Given the description of an element on the screen output the (x, y) to click on. 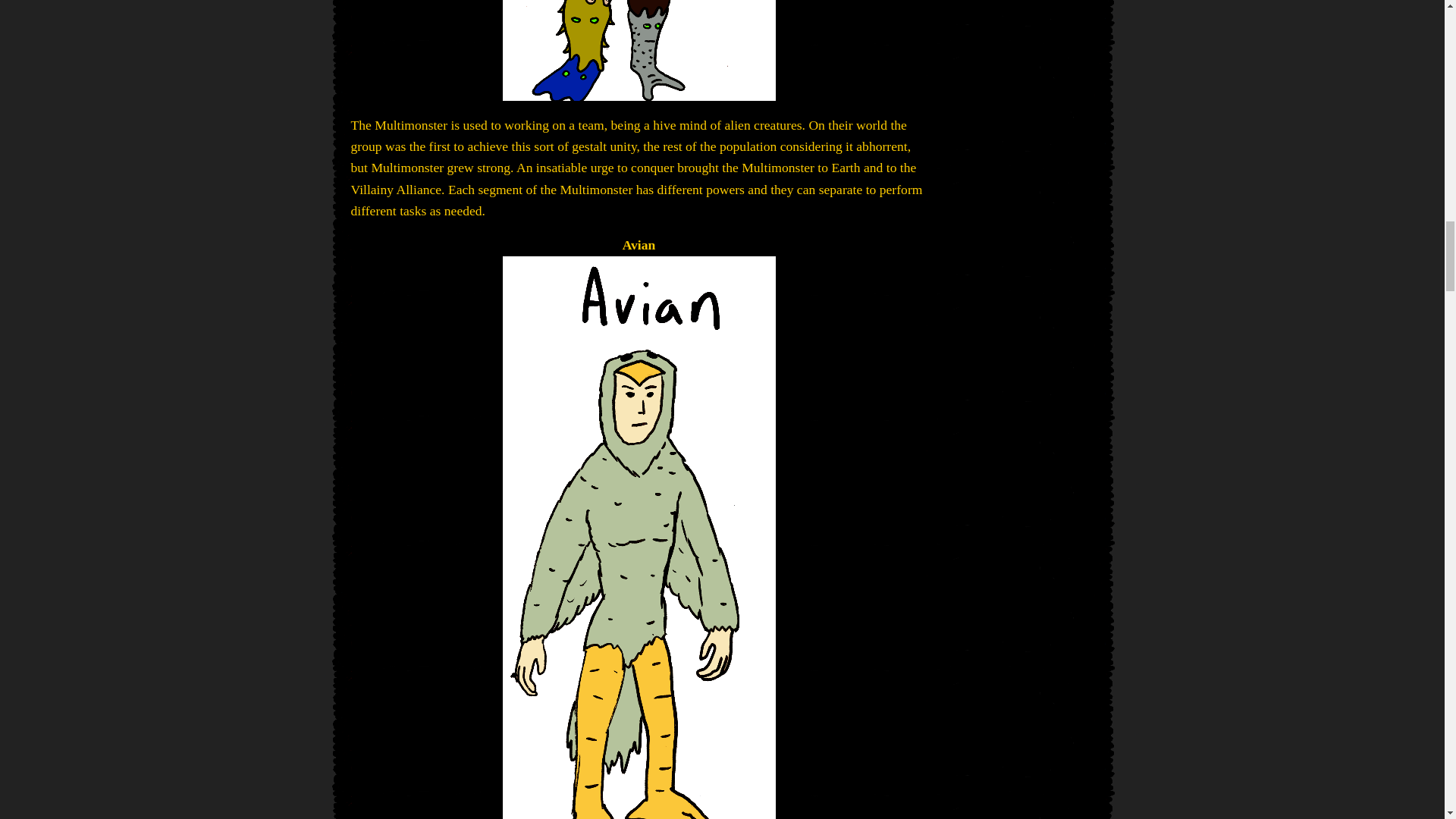
Multimonster (638, 50)
